Given the description of an element on the screen output the (x, y) to click on. 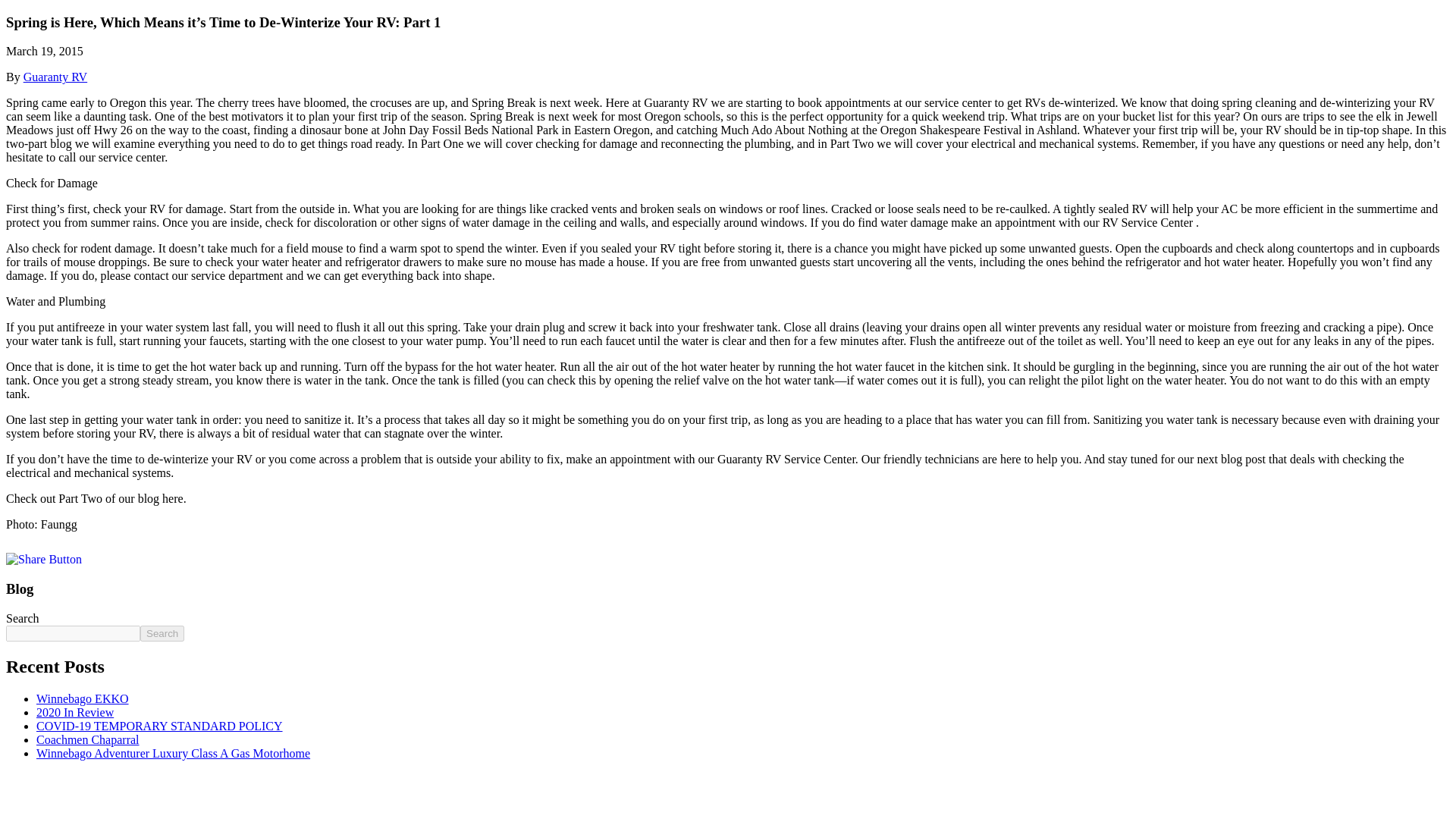
Search (161, 633)
2020 In Review (74, 712)
Guaranty RV (55, 76)
COVID-19 TEMPORARY STANDARD POLICY (159, 725)
Winnebago EKKO (82, 698)
